Given the description of an element on the screen output the (x, y) to click on. 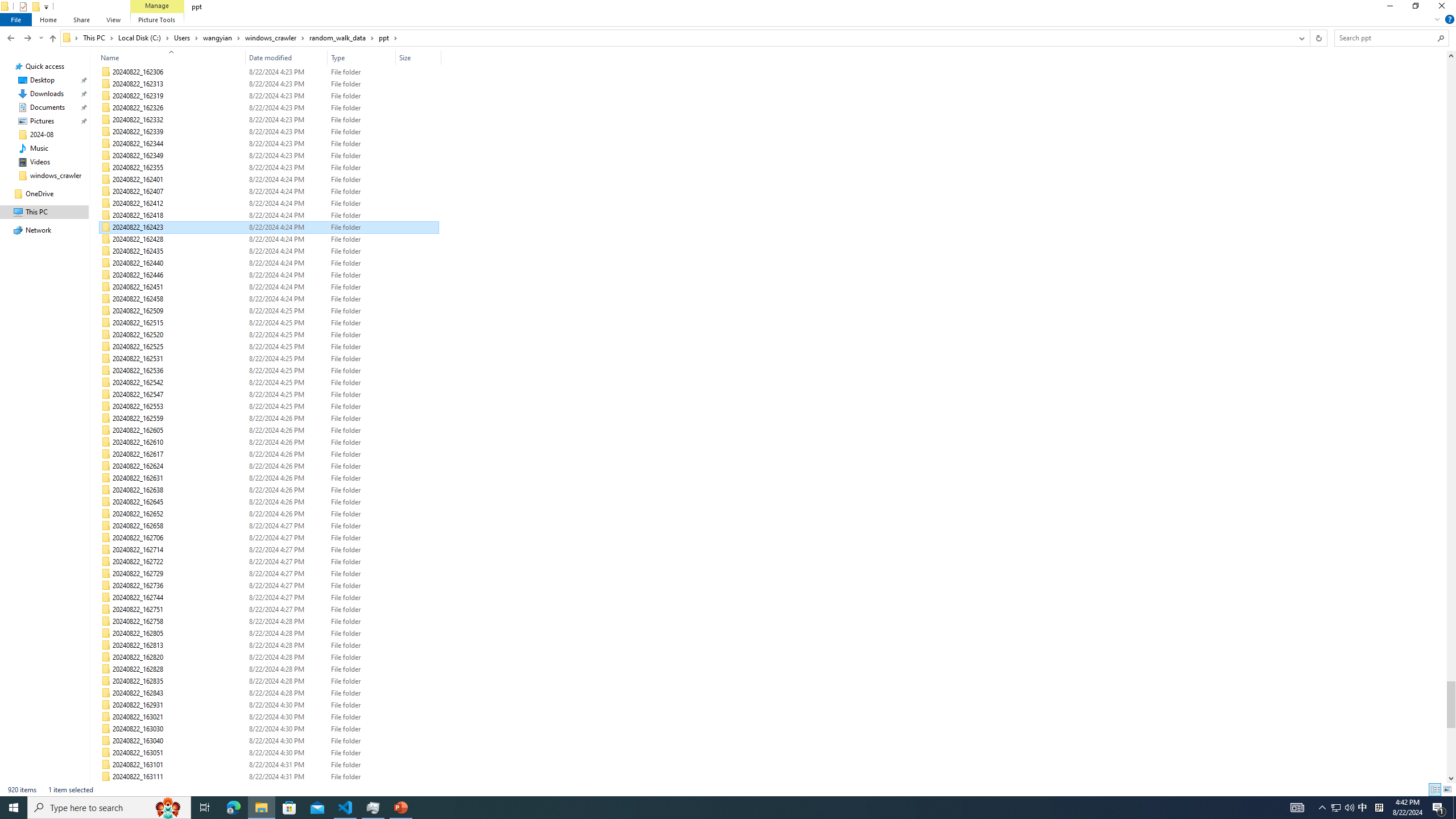
Size (418, 788)
Restore (1415, 8)
20240822_162631 (269, 477)
20240822_162751 (269, 609)
Back to random_walk_data (Alt + Left Arrow) (10, 37)
20240822_162714 (269, 549)
20240822_162339 (269, 131)
20240822_162553 (269, 406)
20240822_162423 (269, 227)
20240822_162706 (269, 537)
20240822_162843 (269, 693)
